Given the description of an element on the screen output the (x, y) to click on. 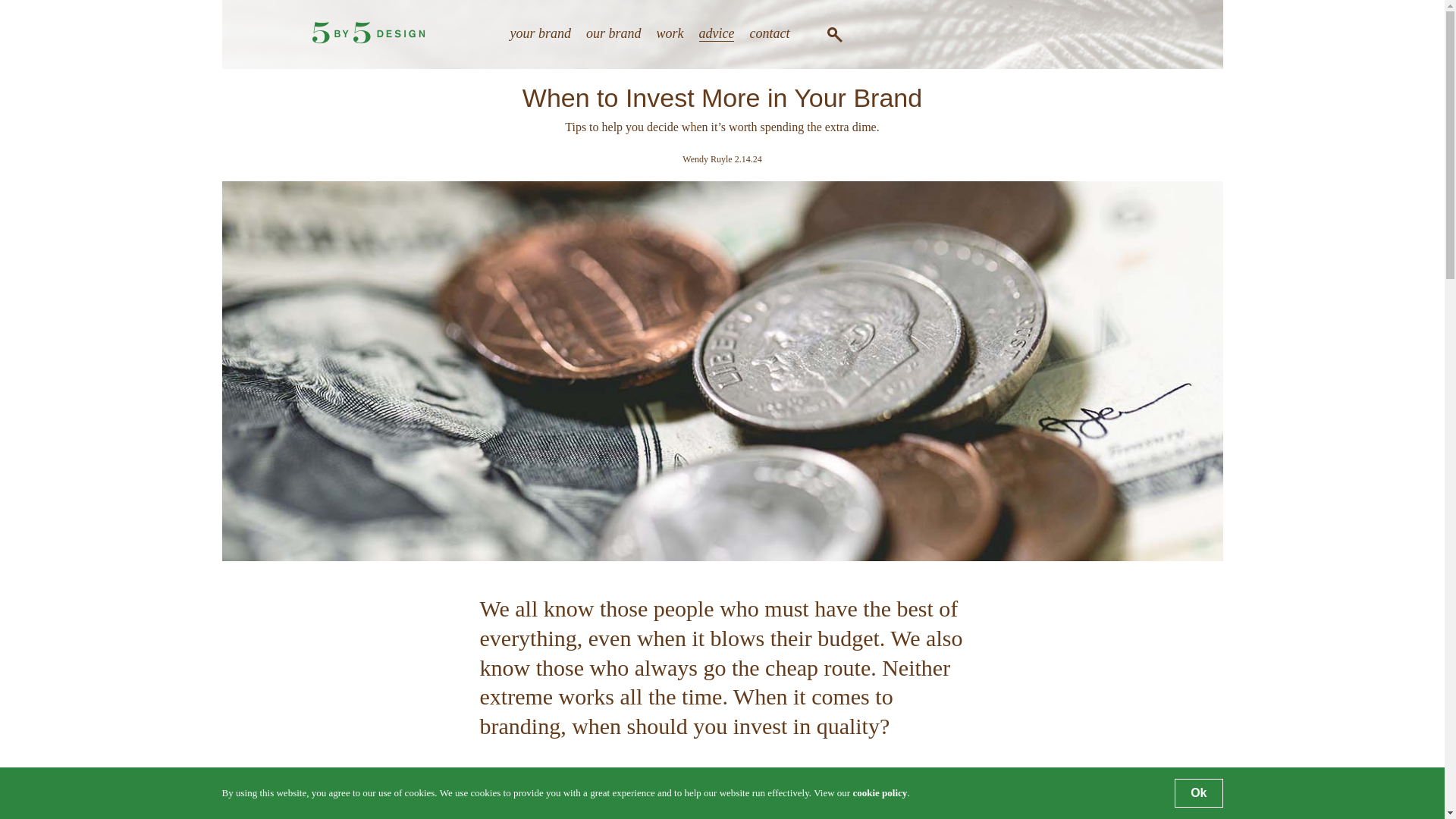
advice (716, 33)
contact (769, 32)
Ok (1198, 792)
cookie policy (879, 792)
5 by 5 Design (369, 33)
our brand (614, 32)
Send (891, 380)
5 by 5 Design (369, 39)
your brand (539, 32)
work (670, 32)
